Given the description of an element on the screen output the (x, y) to click on. 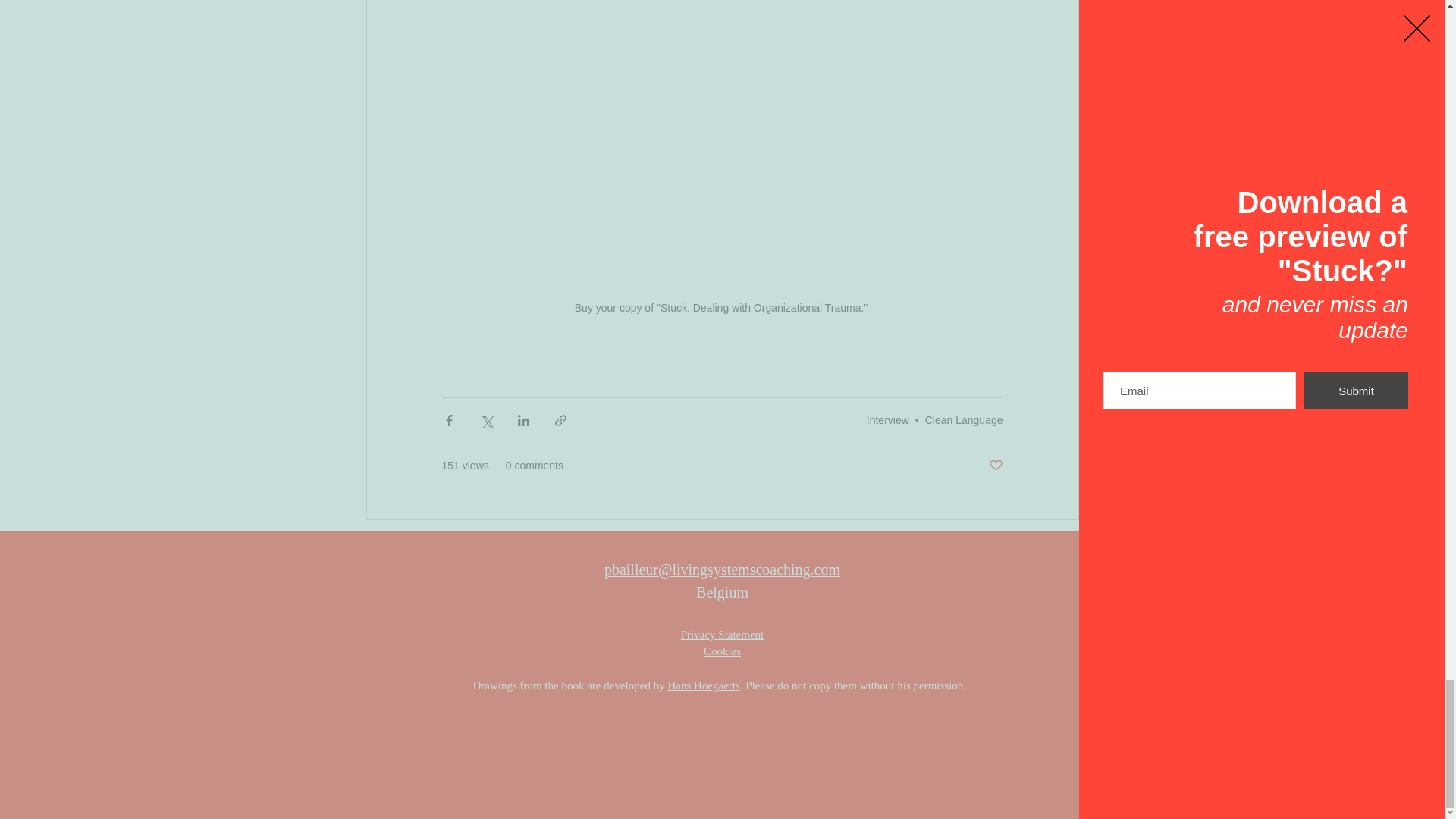
Post not marked as liked (995, 465)
Clean Language (963, 419)
Cookies (722, 651)
Privacy Statement (722, 634)
0 comments (534, 465)
Interview (887, 419)
Hans Hoegaerts (702, 685)
